Given the description of an element on the screen output the (x, y) to click on. 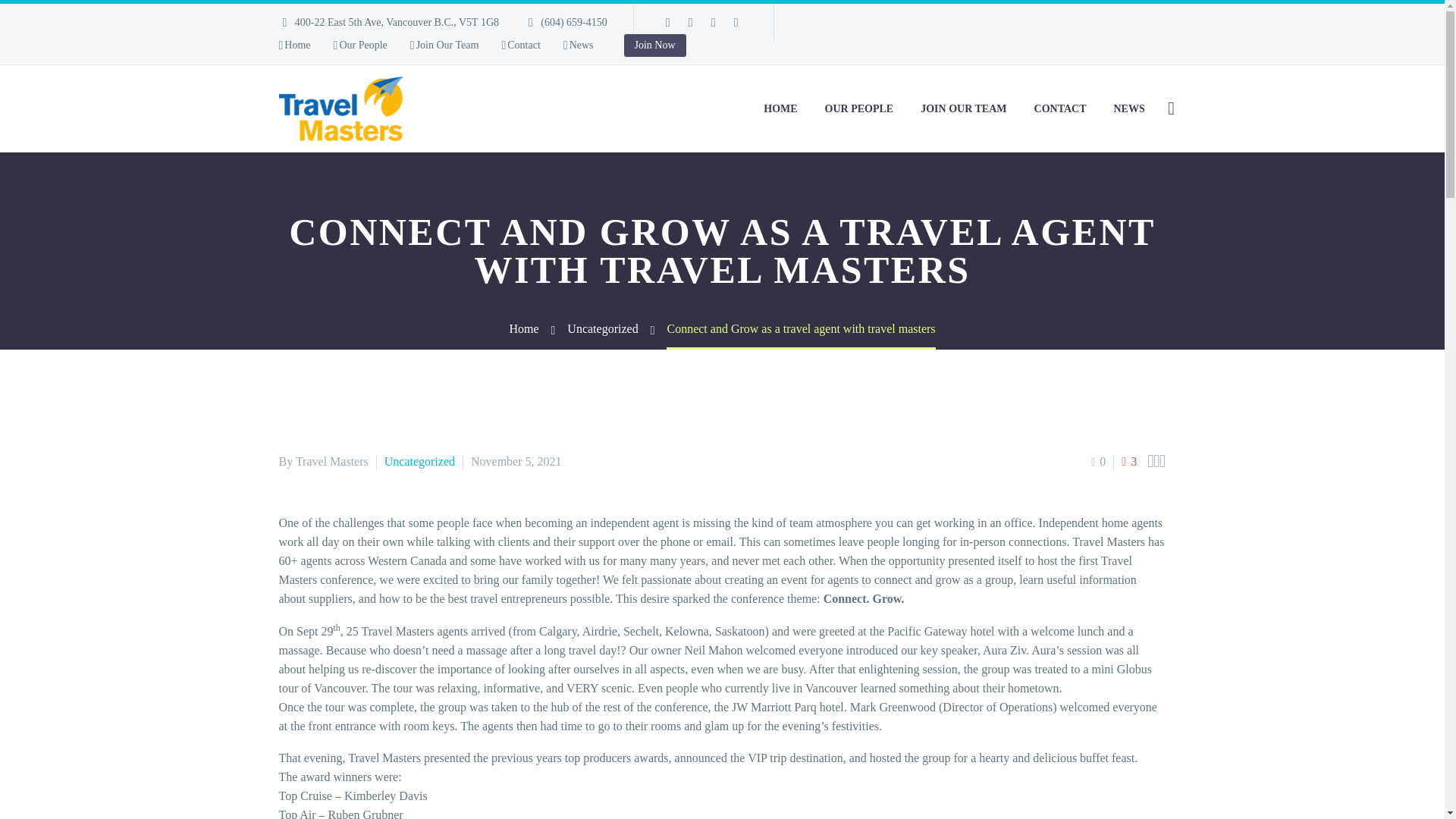
HOME (780, 108)
Join Our Team (444, 45)
Home (295, 45)
Uncategorized (419, 461)
News (578, 45)
Uncategorized (602, 328)
View all posts in Uncategorized (419, 461)
Facebook (667, 22)
NEWS (1129, 108)
Contact (520, 45)
Instagram (713, 22)
LinkedIn (690, 22)
CONTACT (1060, 108)
0 (1097, 461)
Home (523, 328)
